Given the description of an element on the screen output the (x, y) to click on. 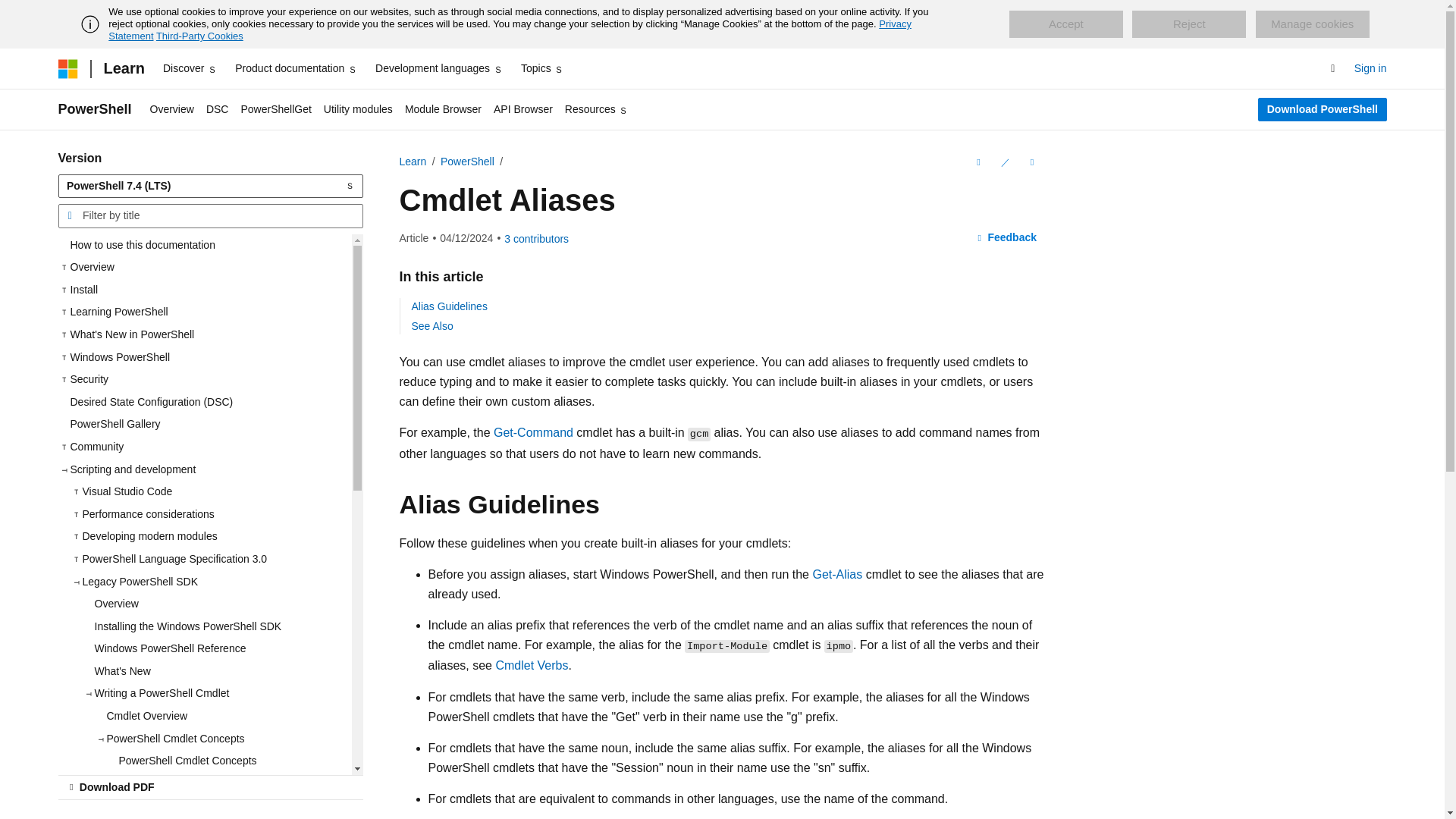
Development languages (438, 68)
API Browser (523, 109)
PowerShellGet (275, 109)
Product documentation (295, 68)
Topics (542, 68)
Edit This Document (1004, 161)
Overview (172, 109)
Accept (1065, 23)
Learn (123, 68)
Download PowerShell (1321, 109)
